Given the description of an element on the screen output the (x, y) to click on. 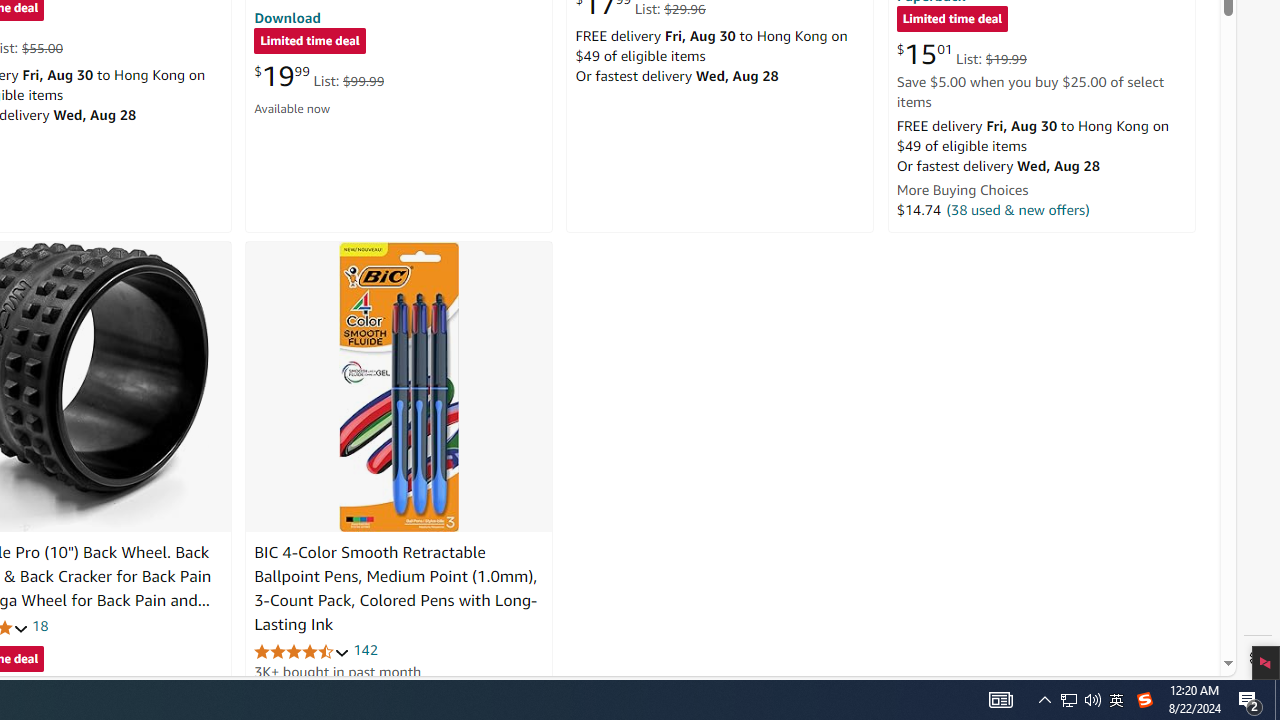
Limited time deal (952, 20)
$15.01 List: $19.99 (961, 54)
$19.99 List: $99.99 (319, 76)
18 (40, 625)
(38 used & new offers) (1017, 209)
Download (287, 17)
4.6 out of 5 stars (301, 650)
142 (365, 650)
